Given the description of an element on the screen output the (x, y) to click on. 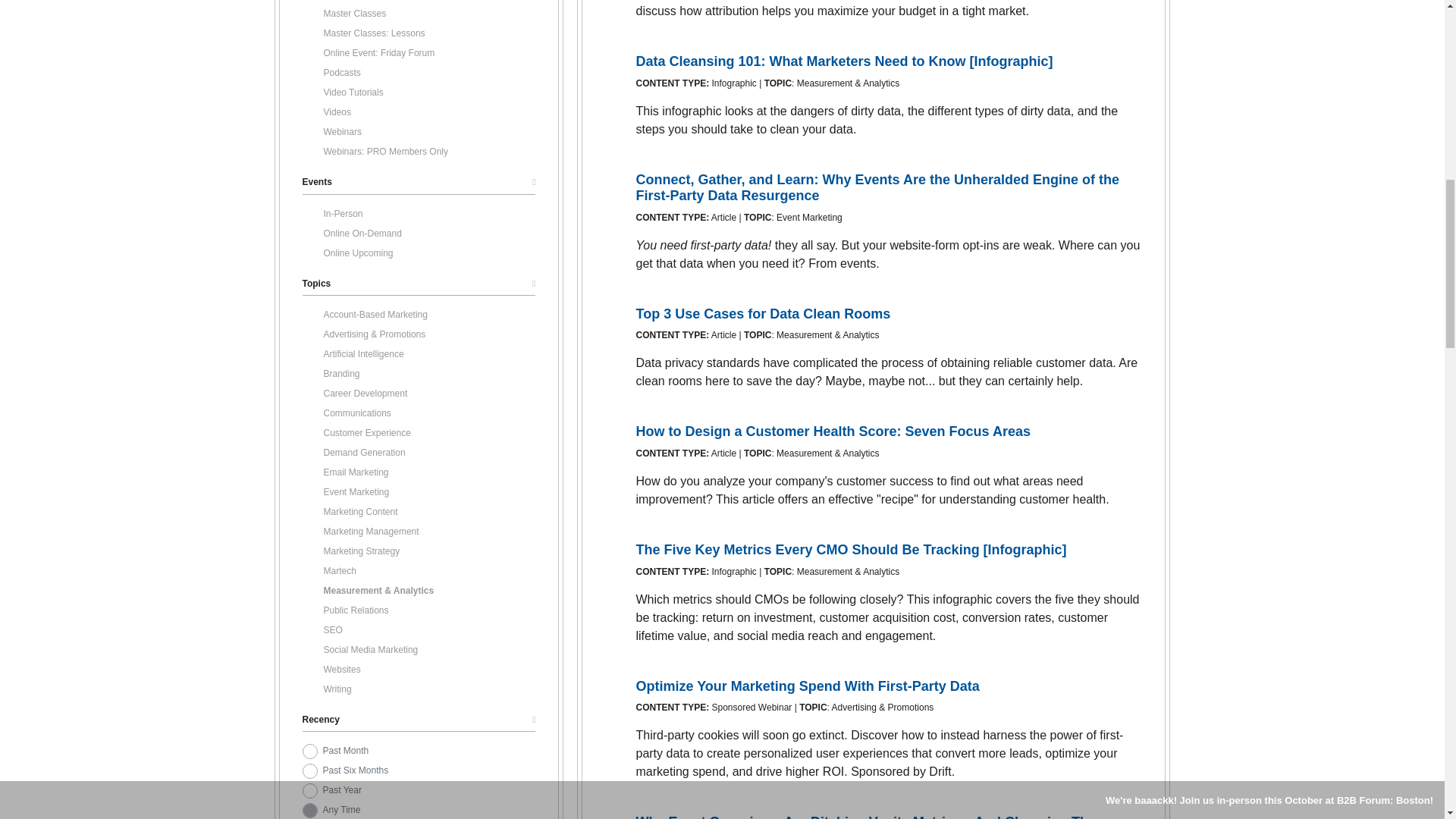
180 (309, 770)
0 (309, 810)
30 (309, 751)
365 (309, 790)
